Given the description of an element on the screen output the (x, y) to click on. 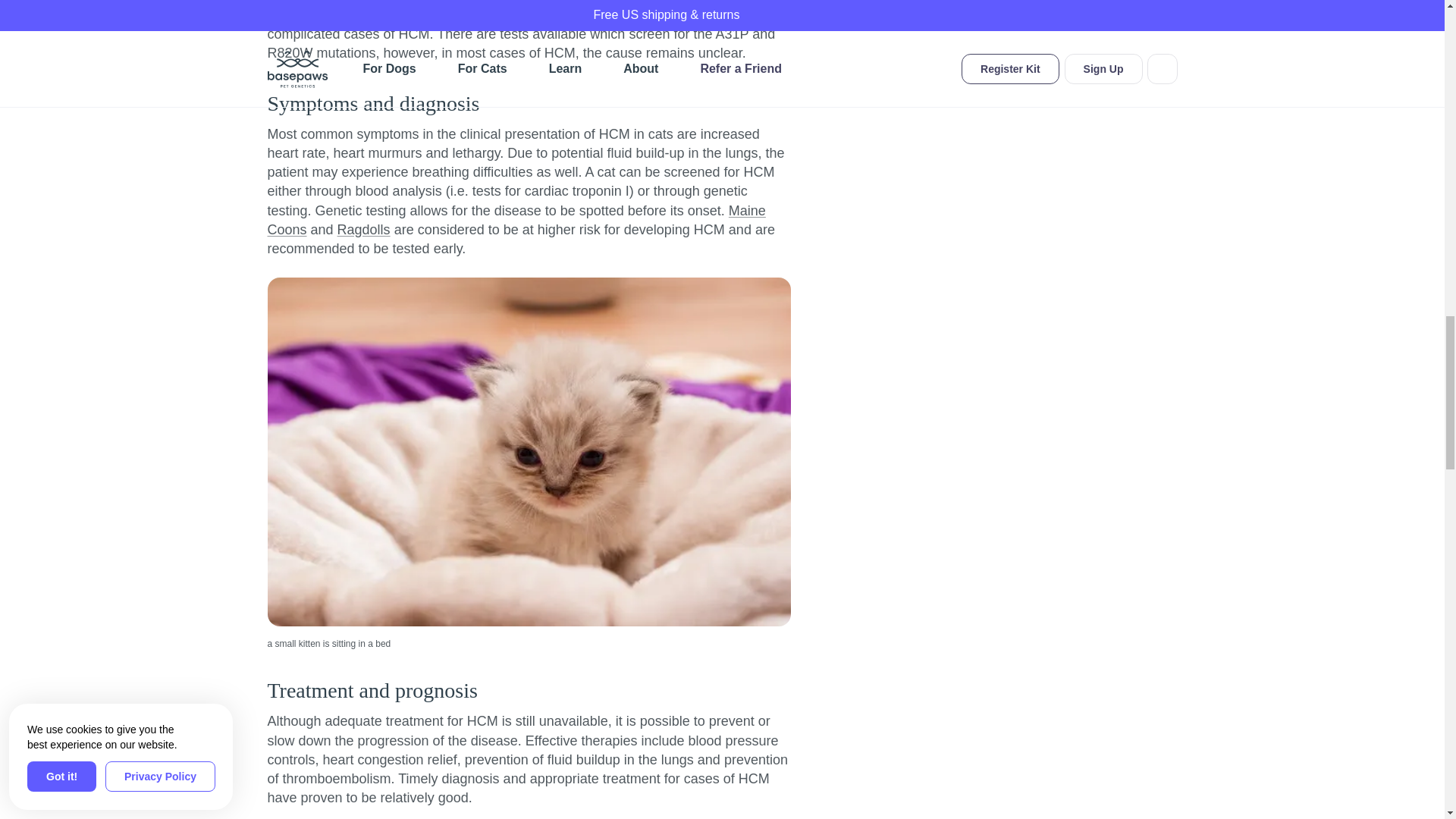
Maine Coons (515, 220)
Ragdolls (363, 229)
